Given the description of an element on the screen output the (x, y) to click on. 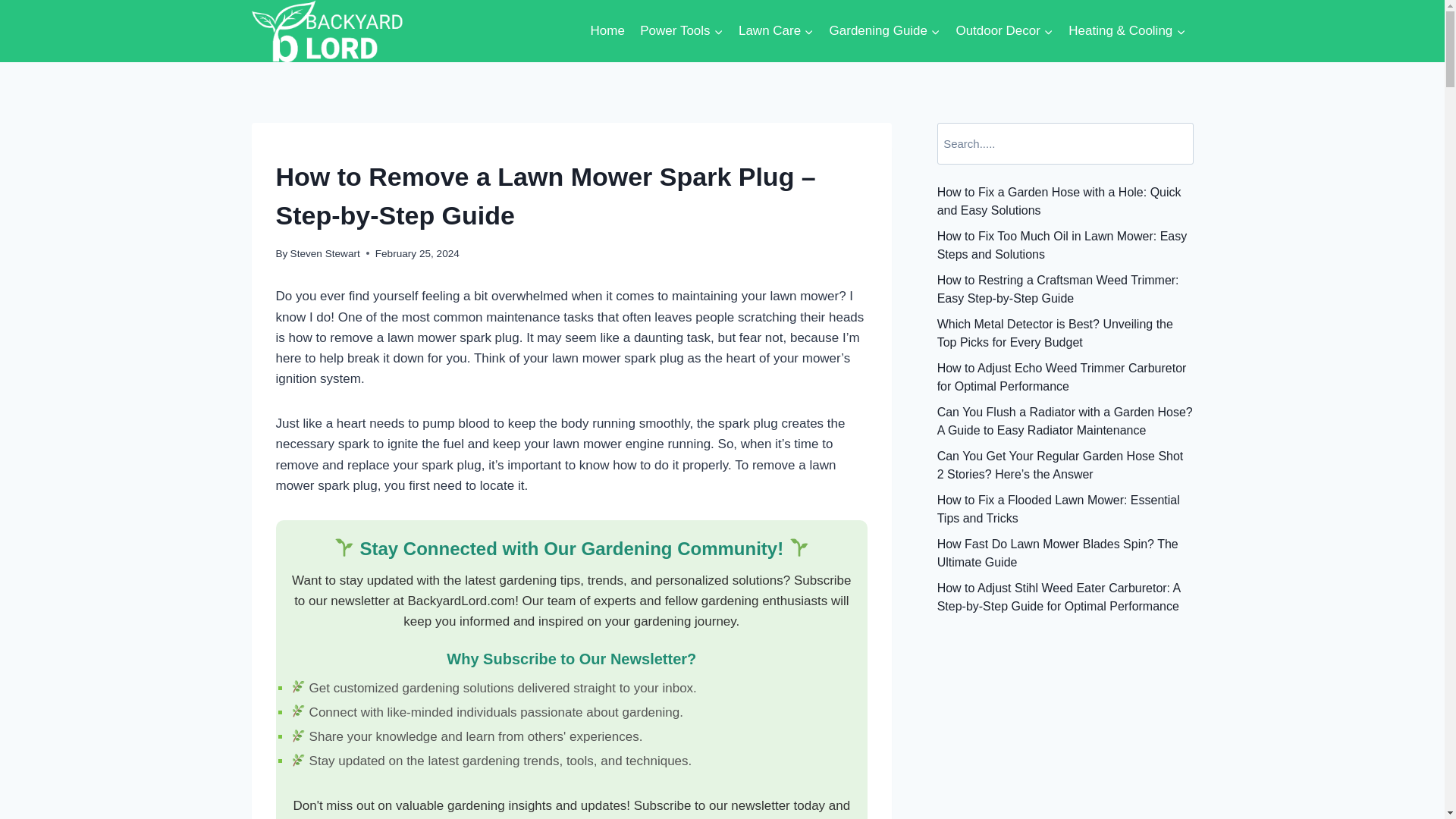
Lawn Care (776, 30)
Power Tools (680, 30)
Outdoor Decor (1004, 30)
Gardening Guide (884, 30)
Home (606, 30)
